Given the description of an element on the screen output the (x, y) to click on. 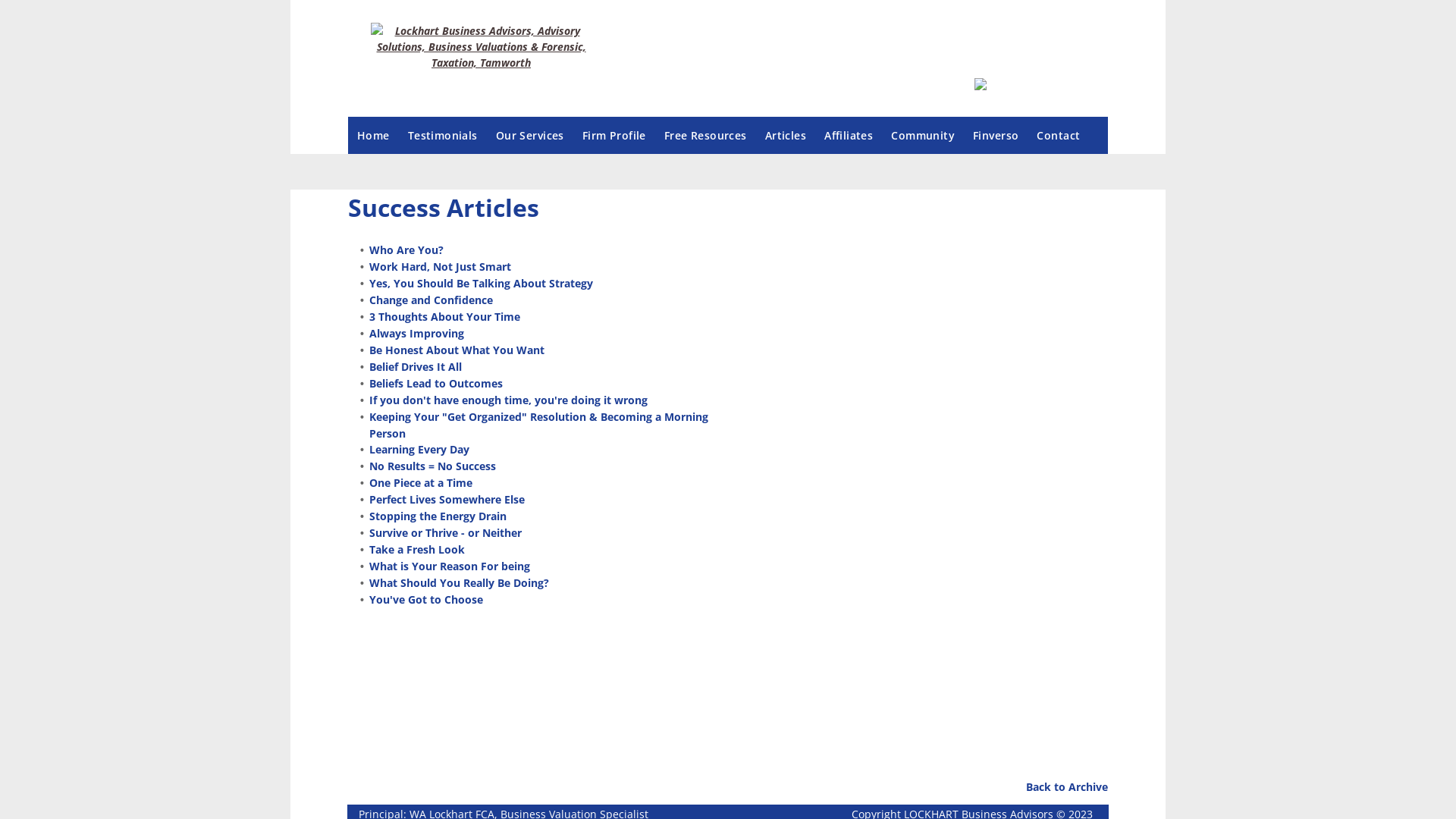
Be Honest About What You Want Element type: text (456, 349)
Work Hard, Not Just Smart Element type: text (440, 266)
Firm Profile Element type: text (614, 134)
Affiliates Element type: text (848, 134)
Yes, You Should Be Talking About Strategy Element type: text (481, 283)
What Should You Really Be Doing? Element type: text (459, 582)
Belief Drives It All Element type: text (415, 366)
Perfect Lives Somewhere Else Element type: text (446, 499)
Free Resources Element type: text (705, 134)
You've Got to Choose Element type: text (426, 599)
Survive or Thrive - or Neither Element type: text (445, 532)
Back to Archive Element type: text (1066, 786)
Change and Confidence Element type: text (430, 299)
Home Element type: text (373, 134)
Learning Every Day Element type: text (419, 449)
Always Improving Element type: text (416, 333)
One Piece at a Time Element type: text (420, 482)
What is Your Reason For being Element type: text (449, 565)
Community Element type: text (922, 134)
Stopping the Energy Drain Element type: text (437, 515)
If you don't have enough time, you're doing it wrong Element type: text (508, 399)
3 Thoughts About Your Time Element type: text (444, 316)
Our Services Element type: text (529, 134)
No Results = No Success Element type: text (432, 465)
Who Are You? Element type: text (406, 249)
Testimonials Element type: text (442, 134)
Articles Element type: text (785, 134)
Beliefs Lead to Outcomes Element type: text (435, 383)
Contact Element type: text (1057, 134)
Take a Fresh Look Element type: text (416, 549)
Finverso Element type: text (995, 134)
